Given the description of an element on the screen output the (x, y) to click on. 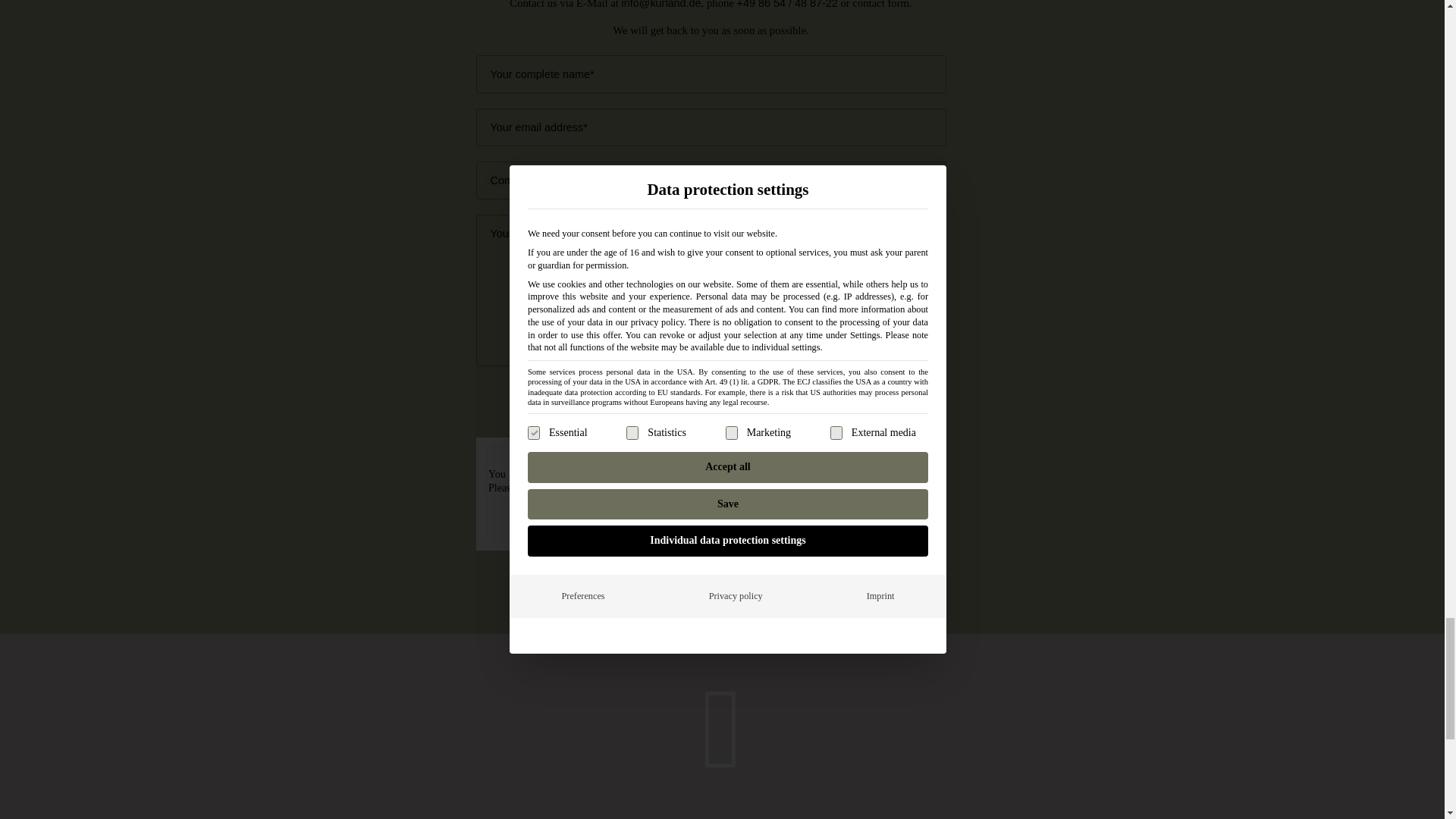
Send (683, 419)
